Given the description of an element on the screen output the (x, y) to click on. 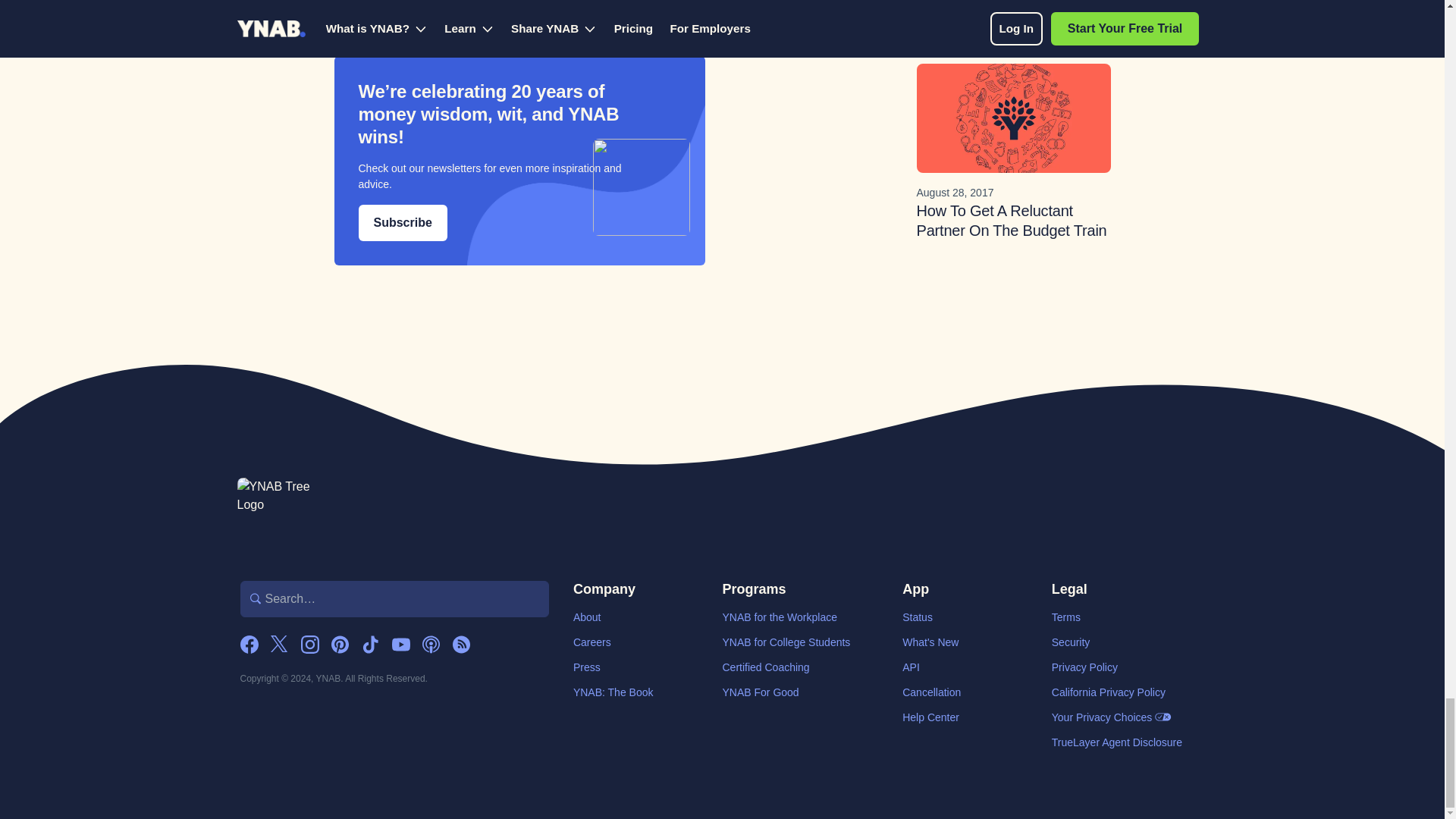
Instagram Icon (308, 644)
YouTube Icon (400, 644)
The artist formerly known as Twitter (278, 644)
Facebook Icon (248, 644)
RSS Icon (460, 644)
Apple Podcasts Icon (430, 644)
TikTok Icon (369, 644)
Pinterest Icon (339, 644)
